Given the description of an element on the screen output the (x, y) to click on. 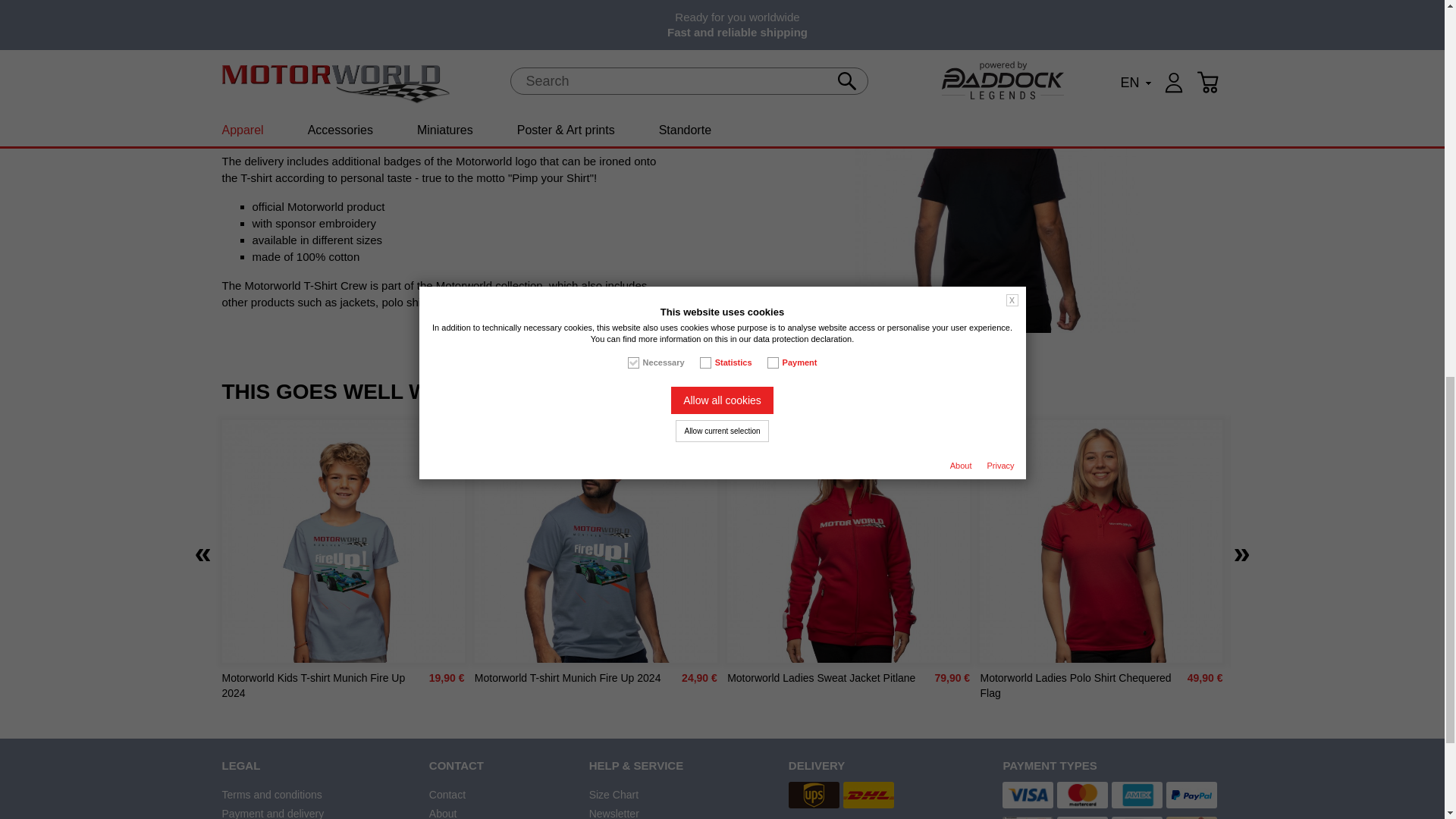
left (202, 552)
Amazon Pay (1191, 817)
right (1241, 552)
